Given the description of an element on the screen output the (x, y) to click on. 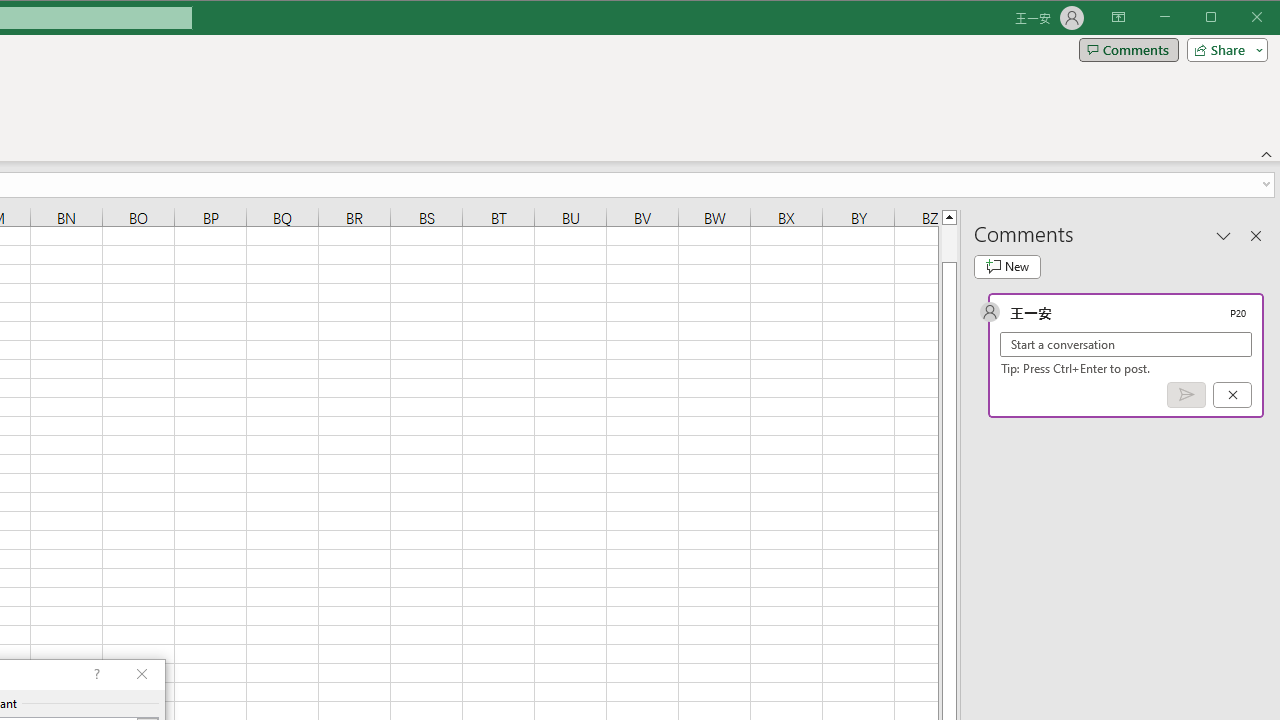
Line up (948, 216)
Minimize (1217, 18)
Collapse the Ribbon (1267, 154)
Start a conversation (1126, 344)
Close pane (1256, 235)
Page up (948, 243)
Cancel (1232, 395)
Task Pane Options (1224, 235)
Post comment (Ctrl + Enter) (1186, 395)
Ribbon Display Options (1118, 17)
New comment (1007, 266)
